Given the description of an element on the screen output the (x, y) to click on. 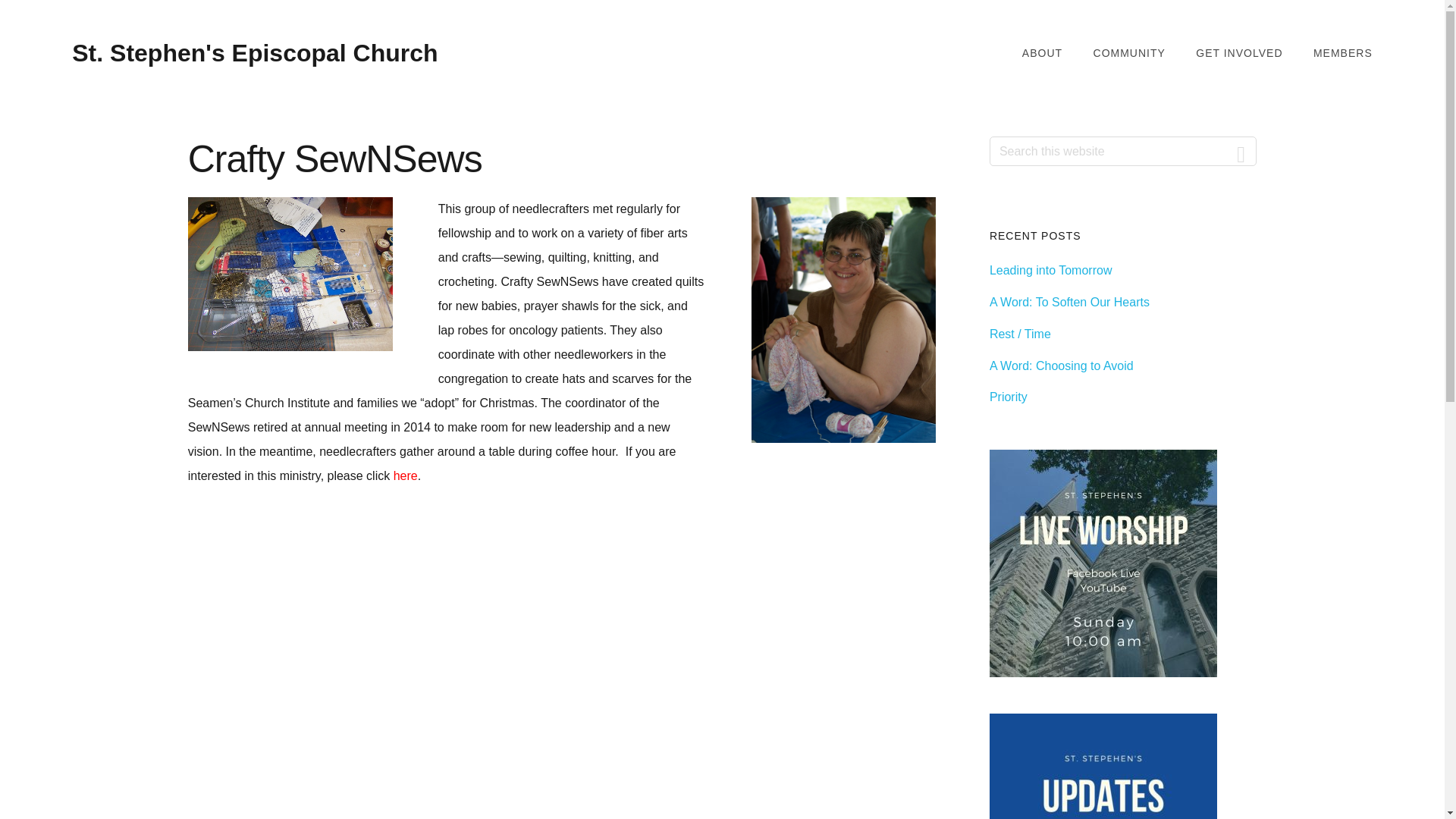
COMMUNITY (1129, 53)
A Word: To Soften Our Hearts (1070, 301)
MEMBERS (1343, 53)
St. Stephen's Episcopal Church (254, 52)
Leading into Tomorrow (1051, 269)
Search (1240, 151)
GET INVOLVED (1238, 53)
Search (1240, 151)
Search (1240, 151)
